Given the description of an element on the screen output the (x, y) to click on. 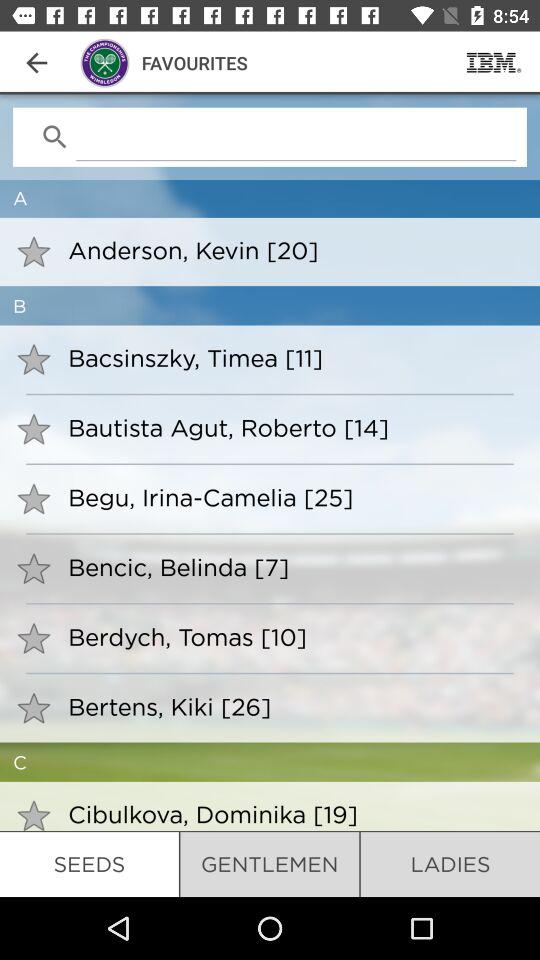
click the icon below c item (290, 814)
